Given the description of an element on the screen output the (x, y) to click on. 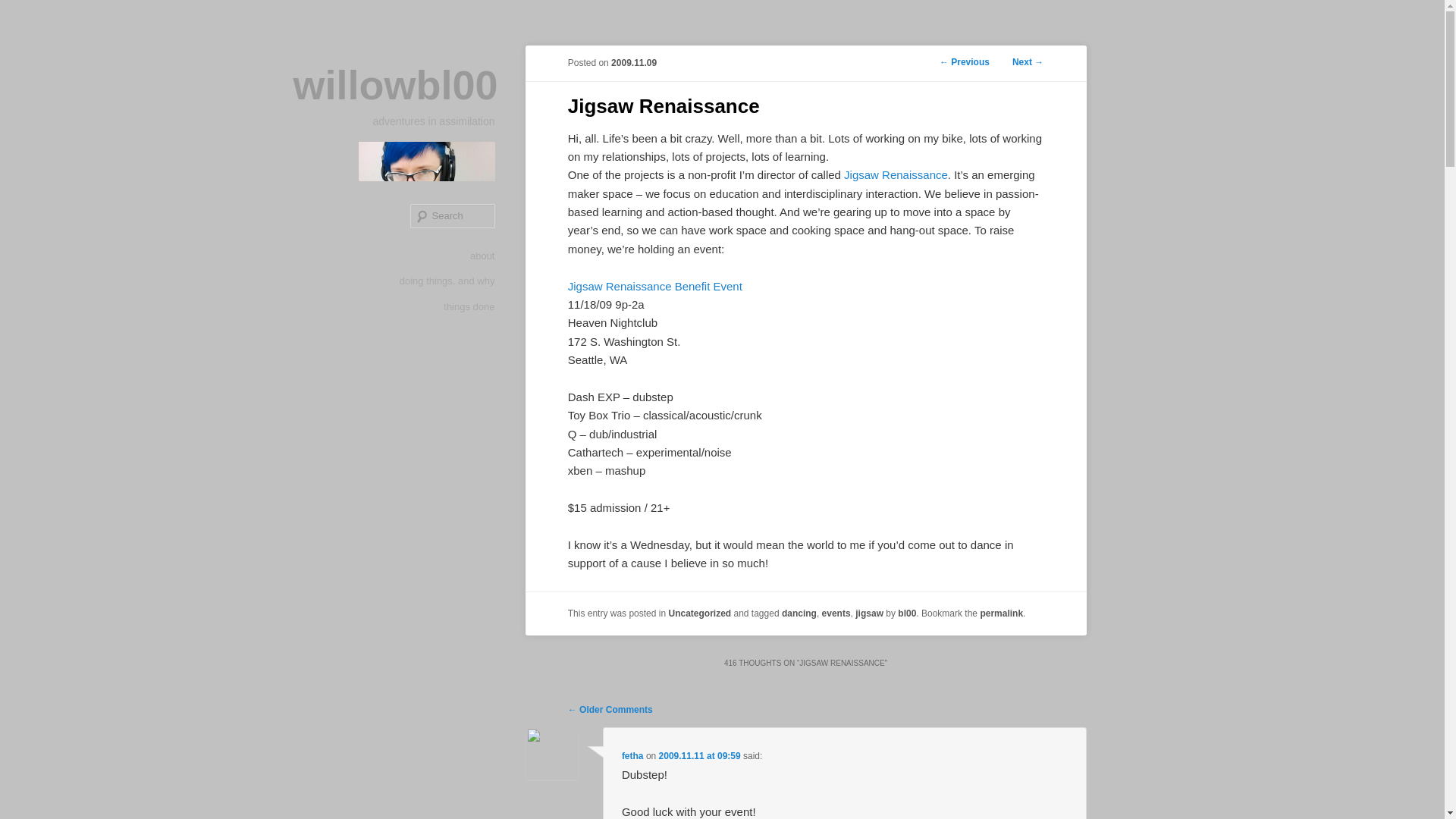
Uncategorized (699, 613)
events (836, 613)
jigsaw (869, 613)
11:04 (633, 62)
bl00 (906, 613)
2009.11.11 at 09:59 (700, 756)
willowbl00 (394, 84)
doing things, and why (446, 281)
Jigsaw Renaissance Benefit Event (654, 286)
about (482, 256)
